Given the description of an element on the screen output the (x, y) to click on. 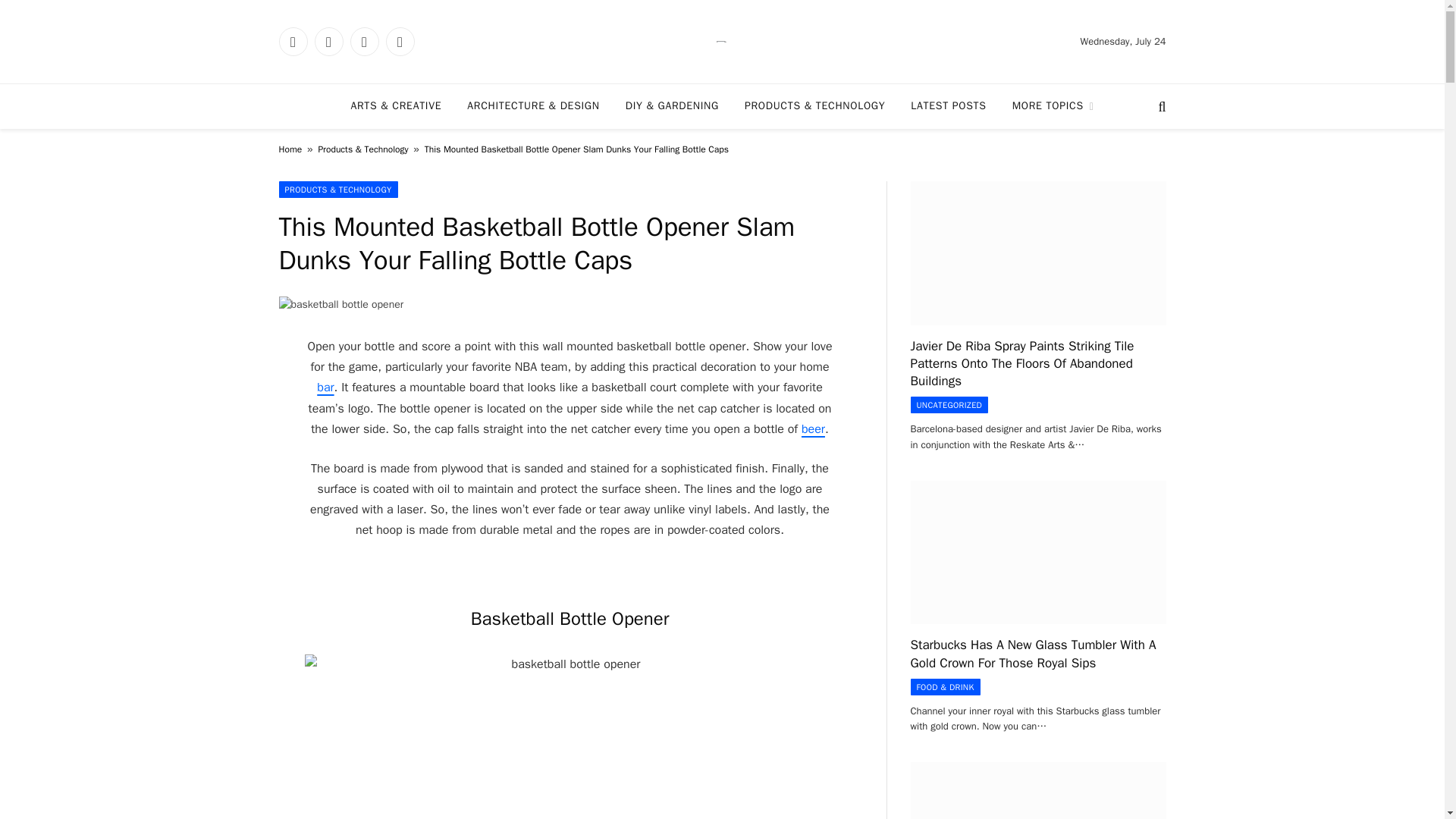
Awesome Inventions (722, 41)
Home (290, 149)
beer (813, 428)
MORE TOPICS (1052, 106)
Instagram (364, 41)
Pinterest (399, 41)
Latest Posts (948, 106)
bar (325, 387)
LATEST POSTS (948, 106)
Search (1160, 106)
Facebook (293, 41)
